Given the description of an element on the screen output the (x, y) to click on. 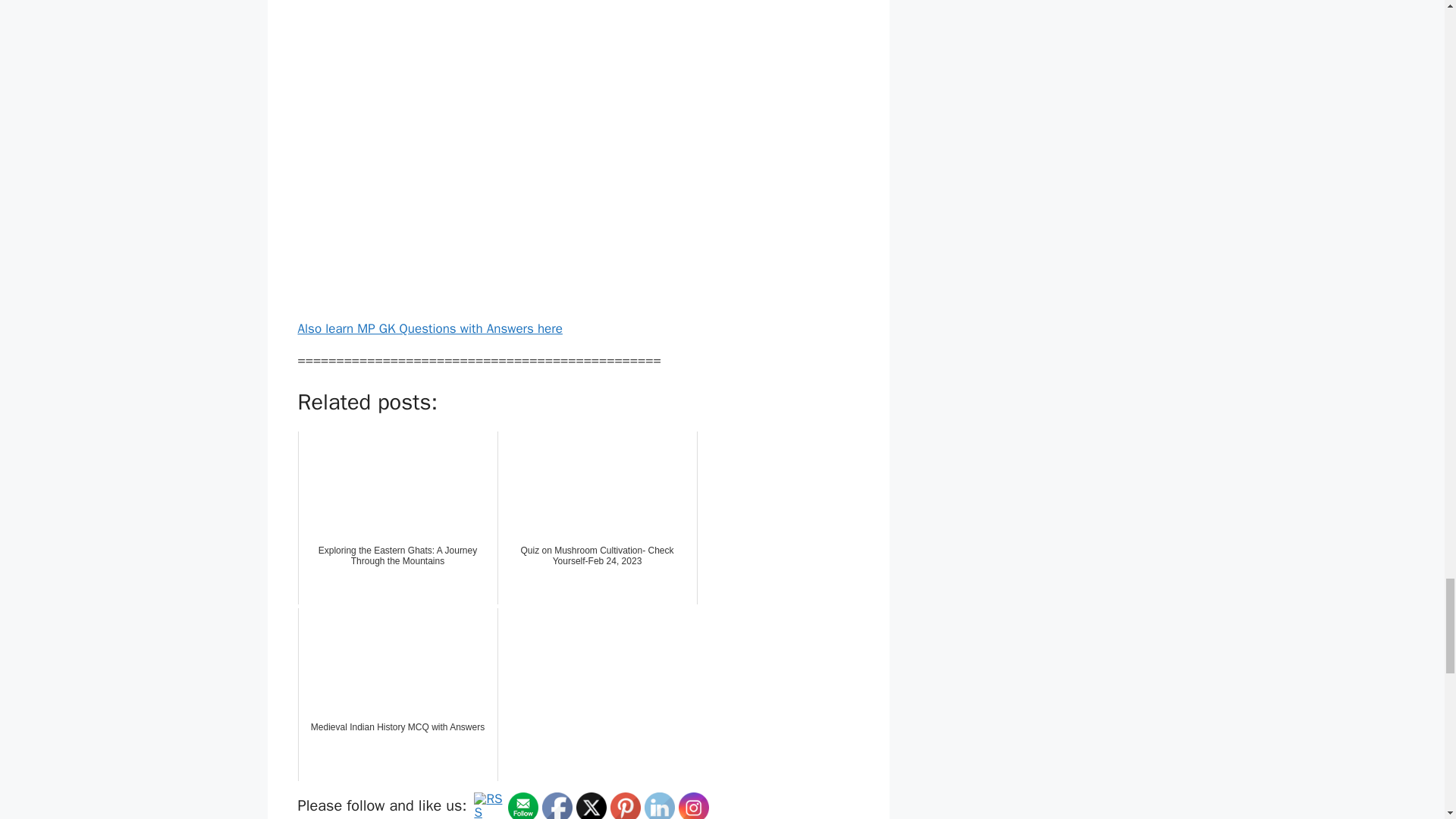
Also learn MP GK Questions with Answers here (429, 328)
Exploring the Eastern Ghats: A Journey Through the Mountains (397, 517)
Medieval Indian History MCQ with Answers (397, 694)
Quiz on Mushroom Cultivation- Check Yourself-Feb 24, 2023 (597, 517)
